Given the description of an element on the screen output the (x, y) to click on. 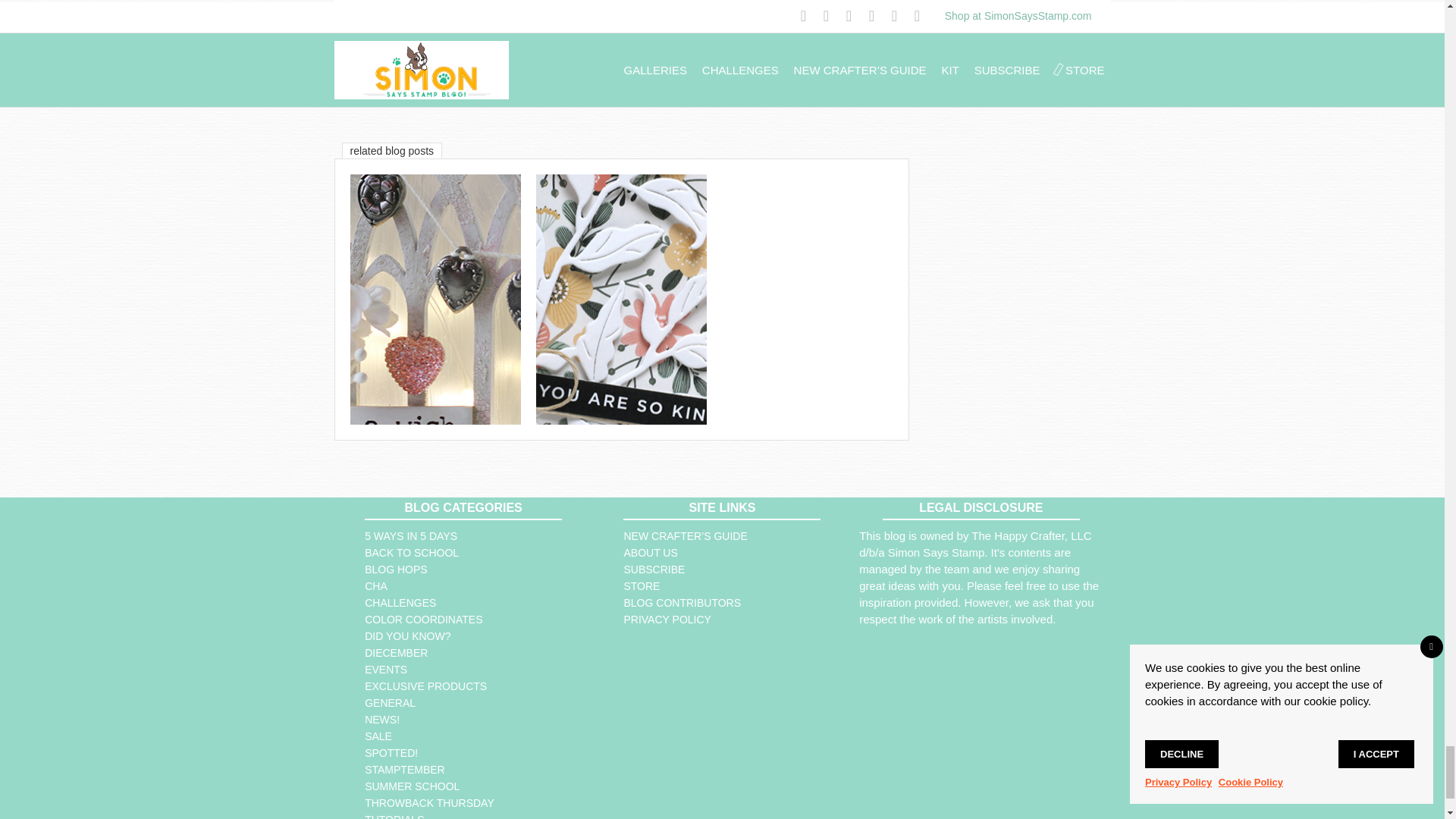
Post Comment (854, 77)
